Given the description of an element on the screen output the (x, y) to click on. 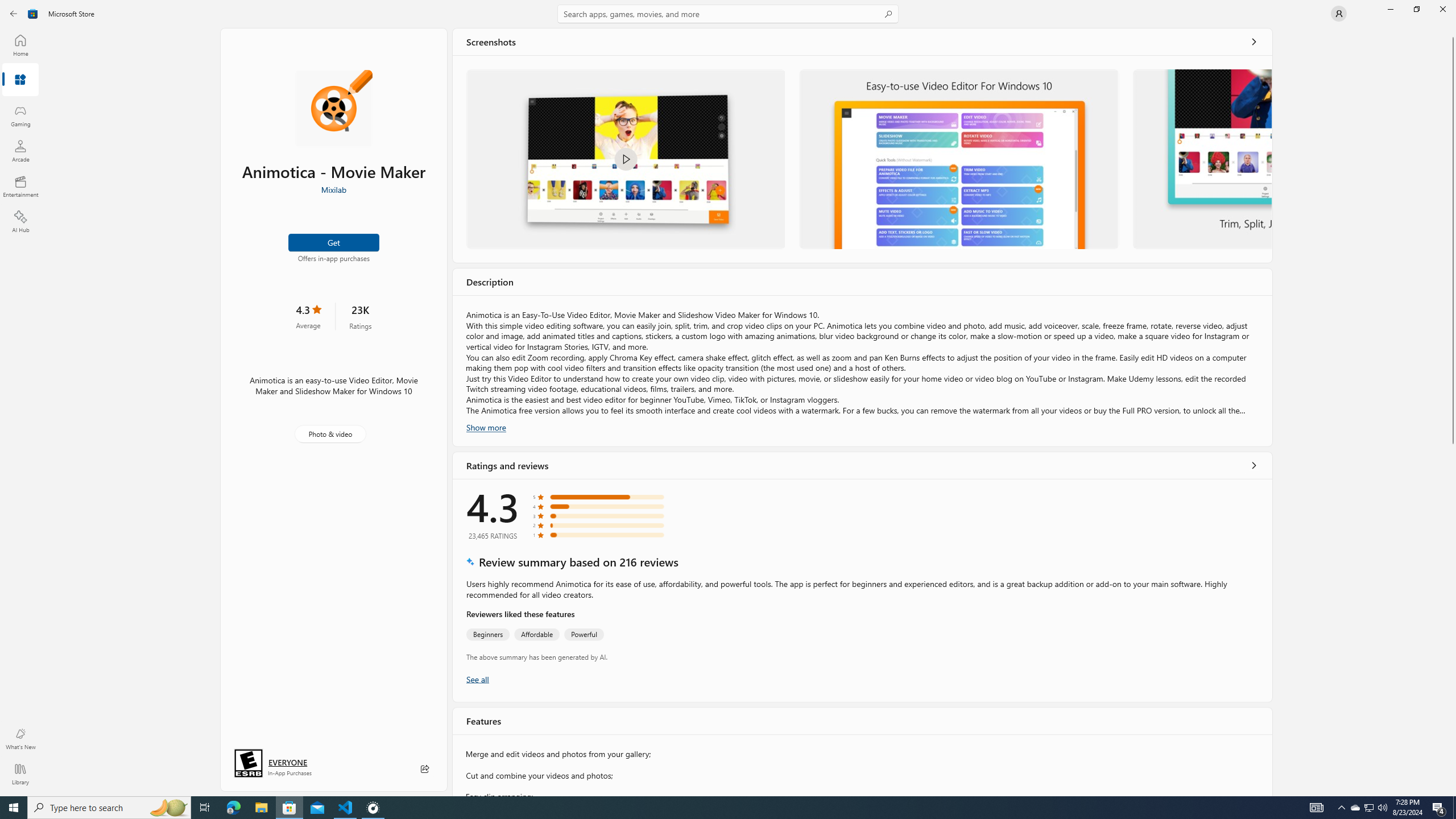
See all (1253, 41)
